Given the description of an element on the screen output the (x, y) to click on. 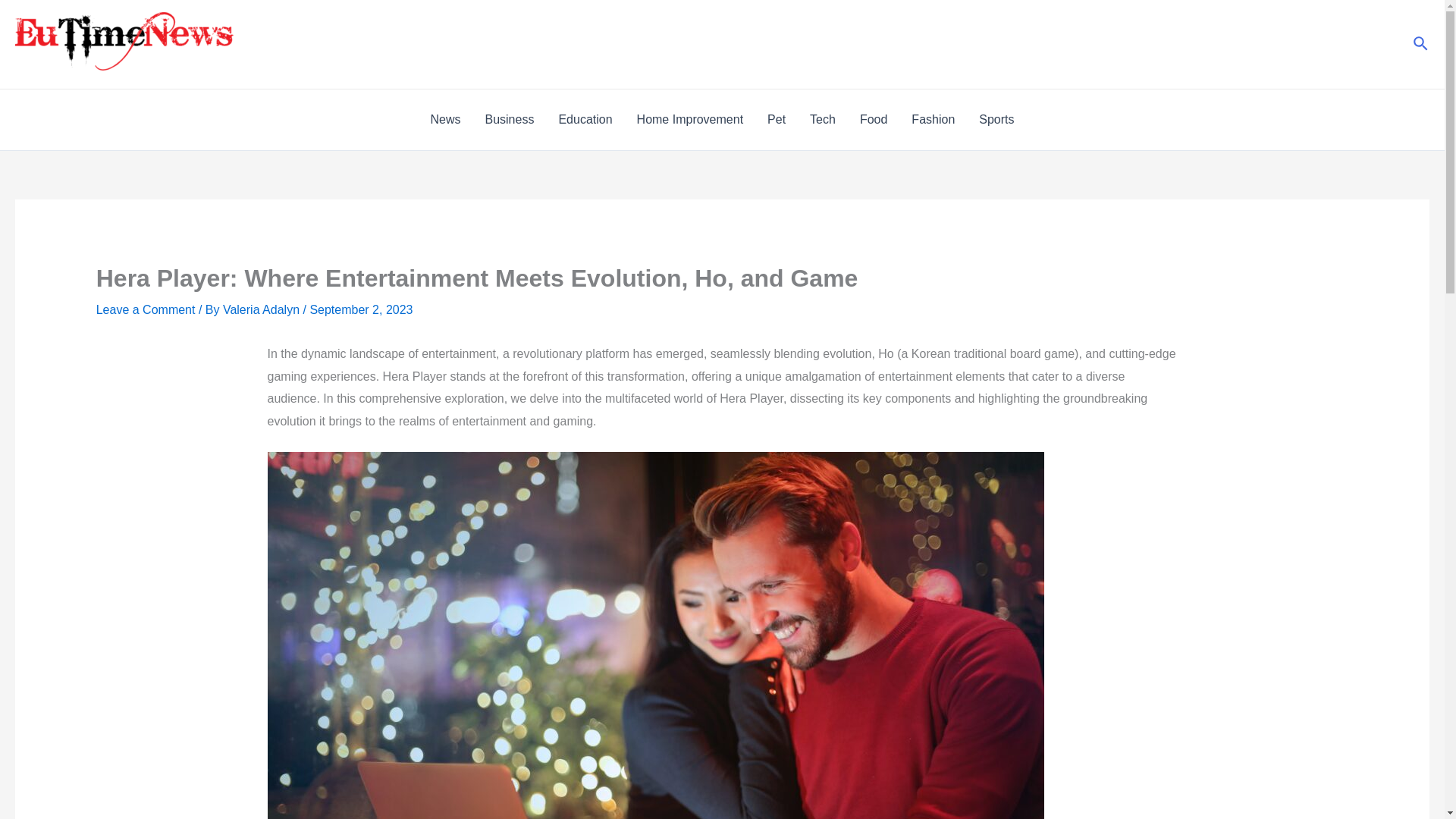
Home Improvement (689, 119)
Education (585, 119)
Business (508, 119)
Fashion (932, 119)
News (444, 119)
Sports (996, 119)
Valeria Adalyn (262, 309)
Leave a Comment (145, 309)
View all posts by Valeria Adalyn (262, 309)
